Given the description of an element on the screen output the (x, y) to click on. 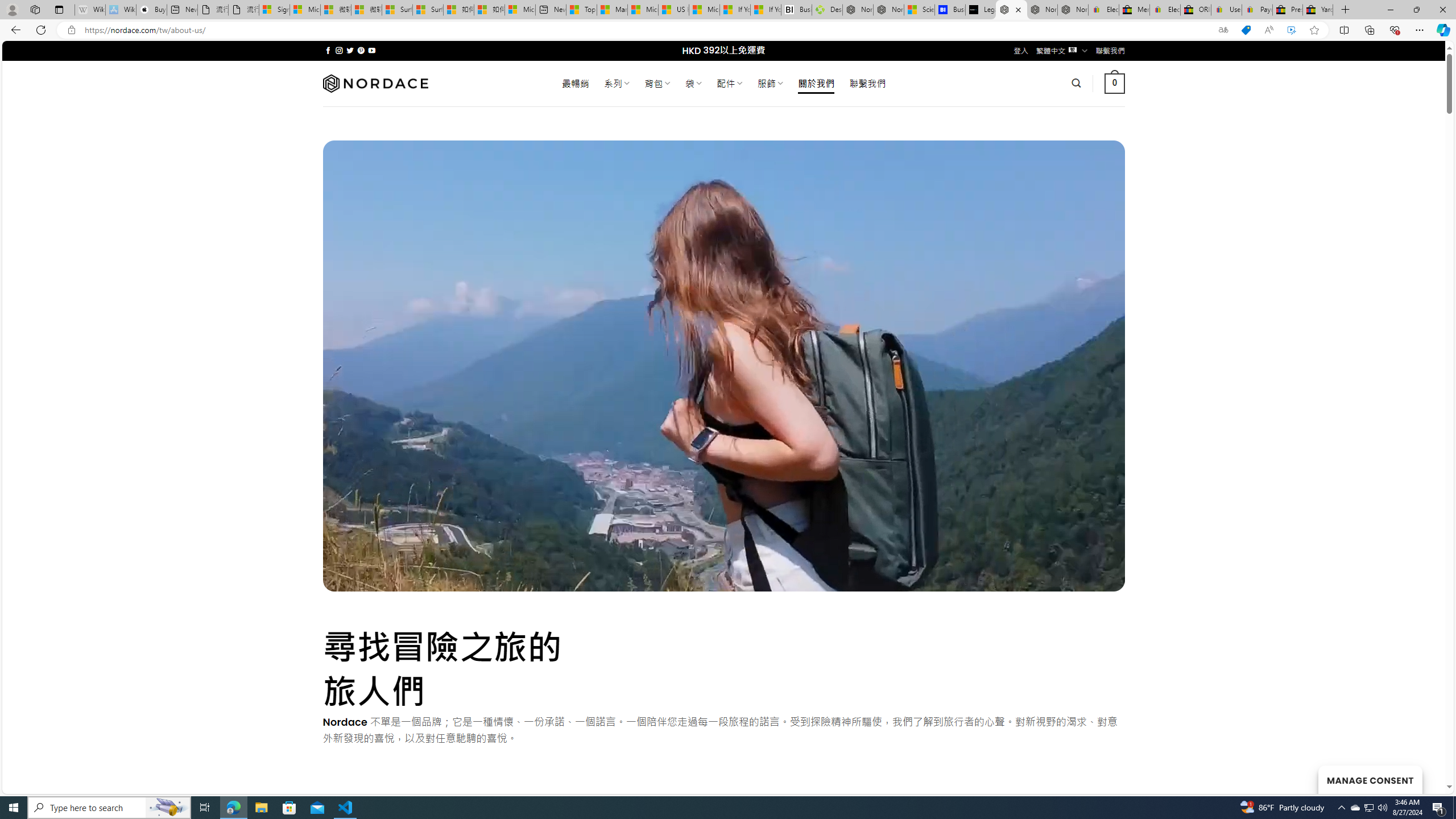
  0   (1115, 83)
